Given the description of an element on the screen output the (x, y) to click on. 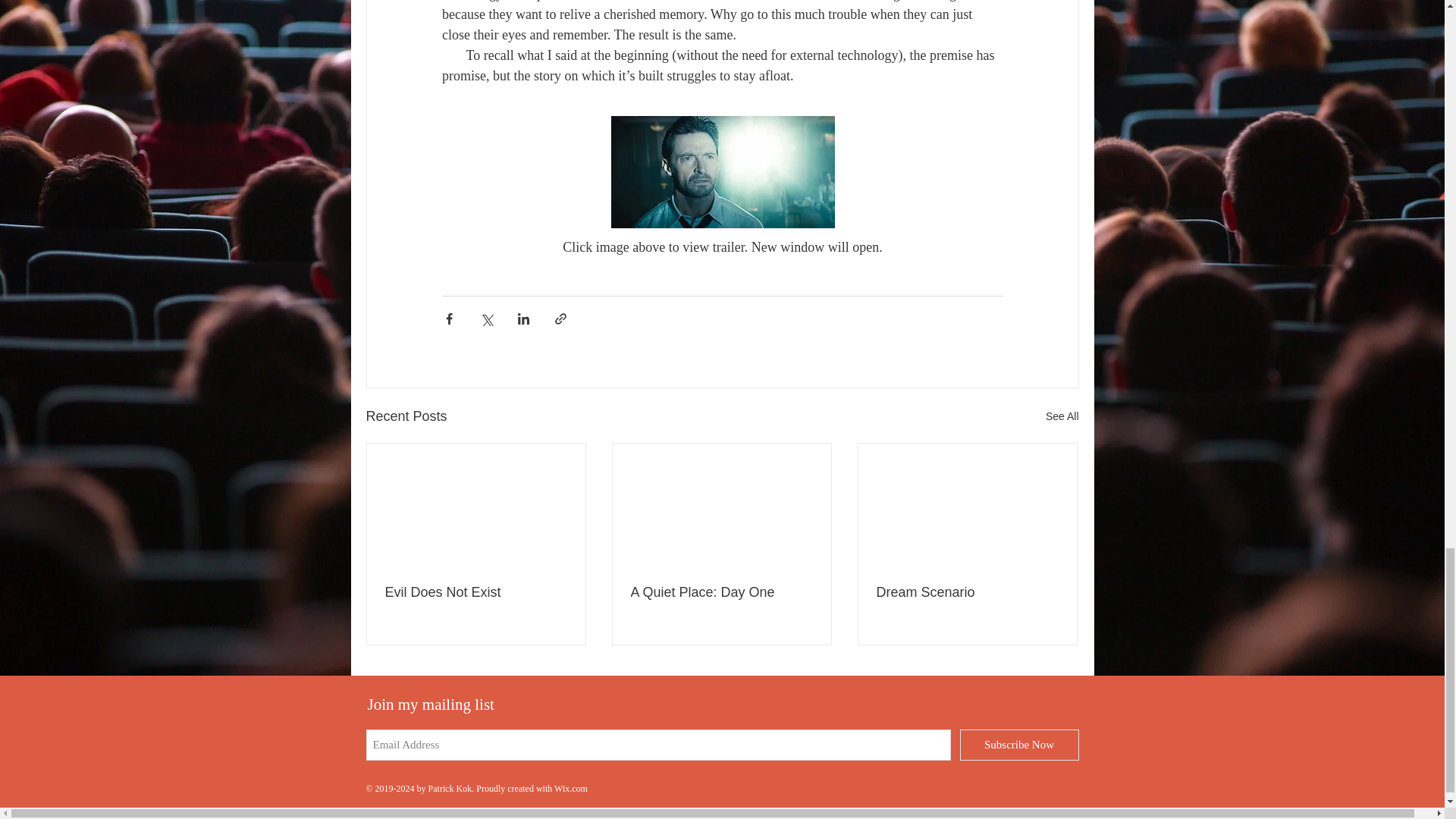
Evil Does Not Exist (476, 591)
See All (1061, 415)
Dream Scenario (967, 591)
Wix.com (571, 787)
A Quiet Place: Day One (721, 591)
Subscribe Now (1018, 744)
